Given the description of an element on the screen output the (x, y) to click on. 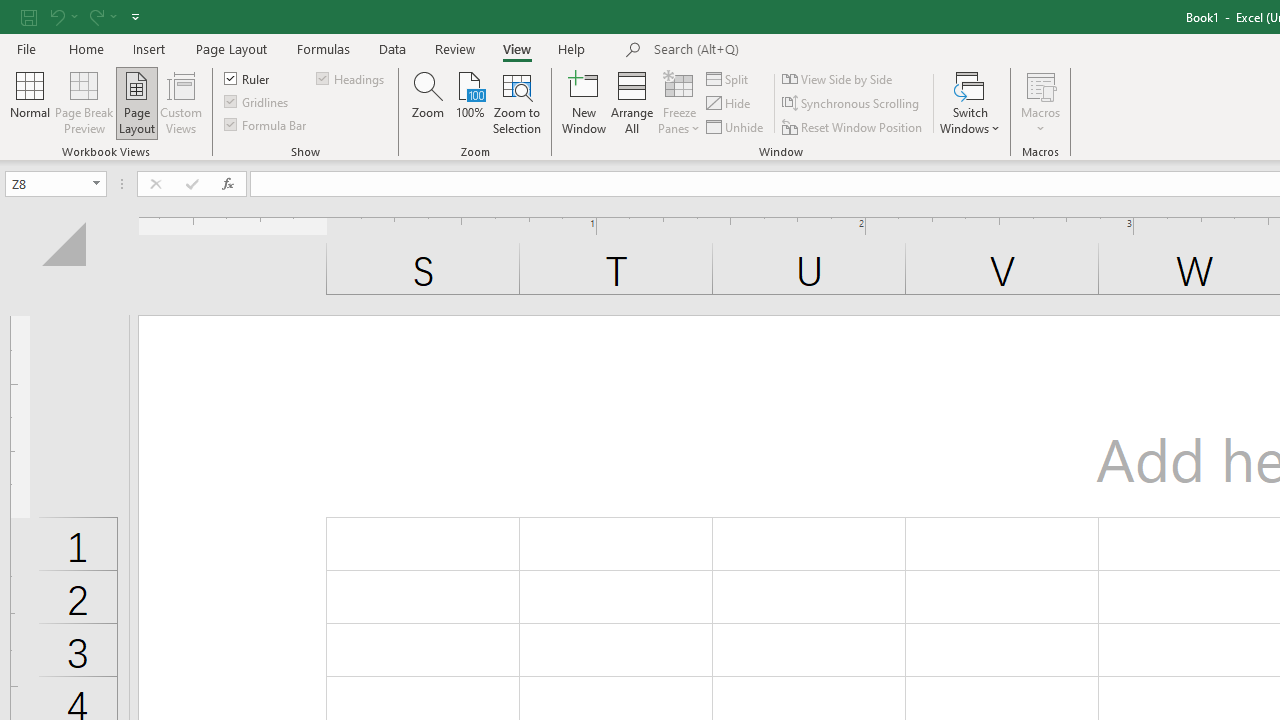
Custom Views... (180, 102)
View Side by Side (838, 78)
Switch Windows (970, 102)
New Window (584, 102)
Synchronous Scrolling (852, 103)
Split (728, 78)
